Given the description of an element on the screen output the (x, y) to click on. 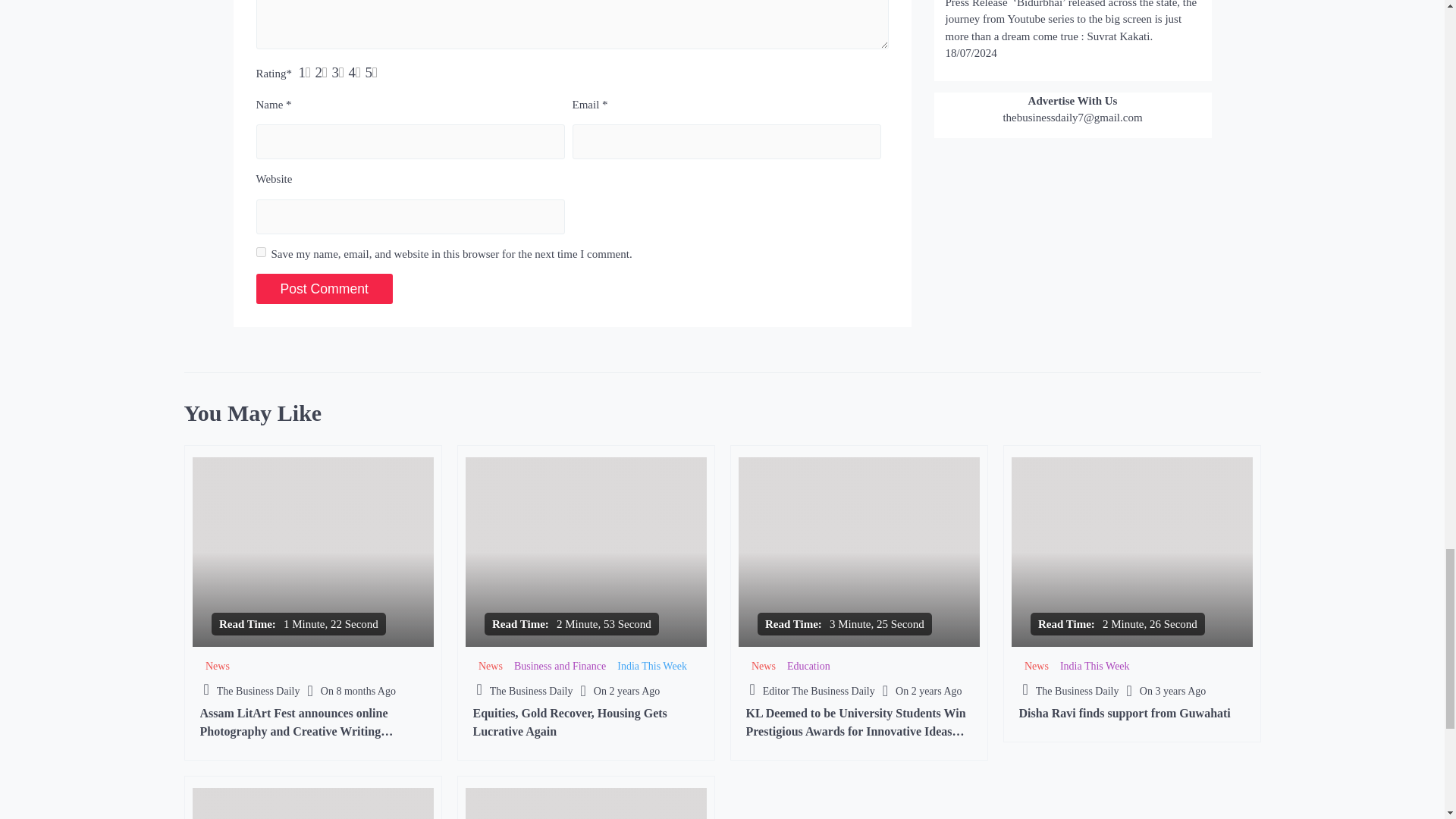
Post Comment (324, 288)
yes (261, 252)
